Given the description of an element on the screen output the (x, y) to click on. 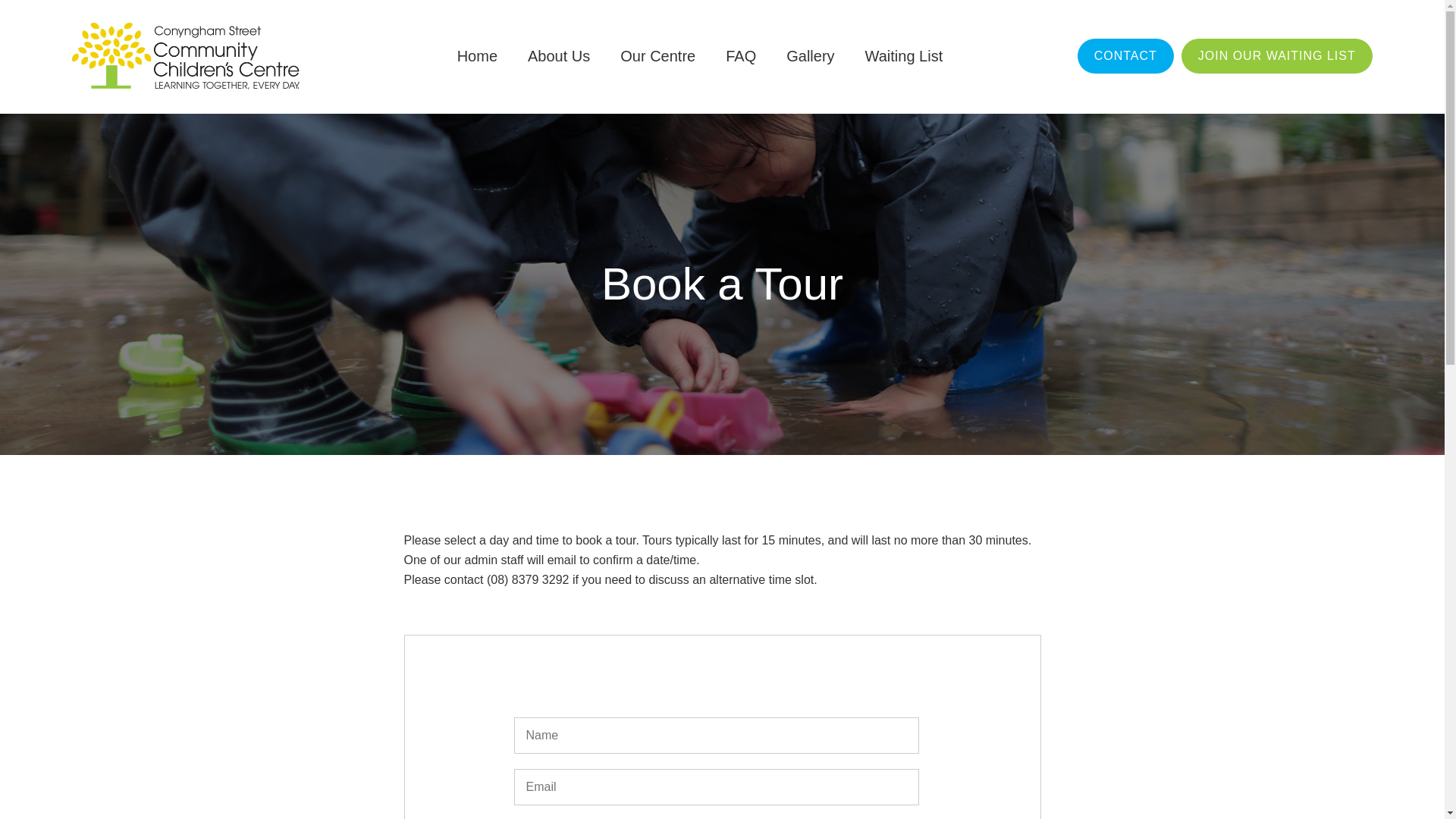
Our Centre Element type: text (657, 55)
CONTACT Element type: text (1125, 55)
JOIN OUR WAITING LIST Element type: text (1276, 55)
About Us Element type: text (558, 55)
Waiting List Element type: text (904, 55)
Home Element type: text (477, 55)
FAQ Element type: text (740, 55)
Gallery Element type: text (810, 55)
